Given the description of an element on the screen output the (x, y) to click on. 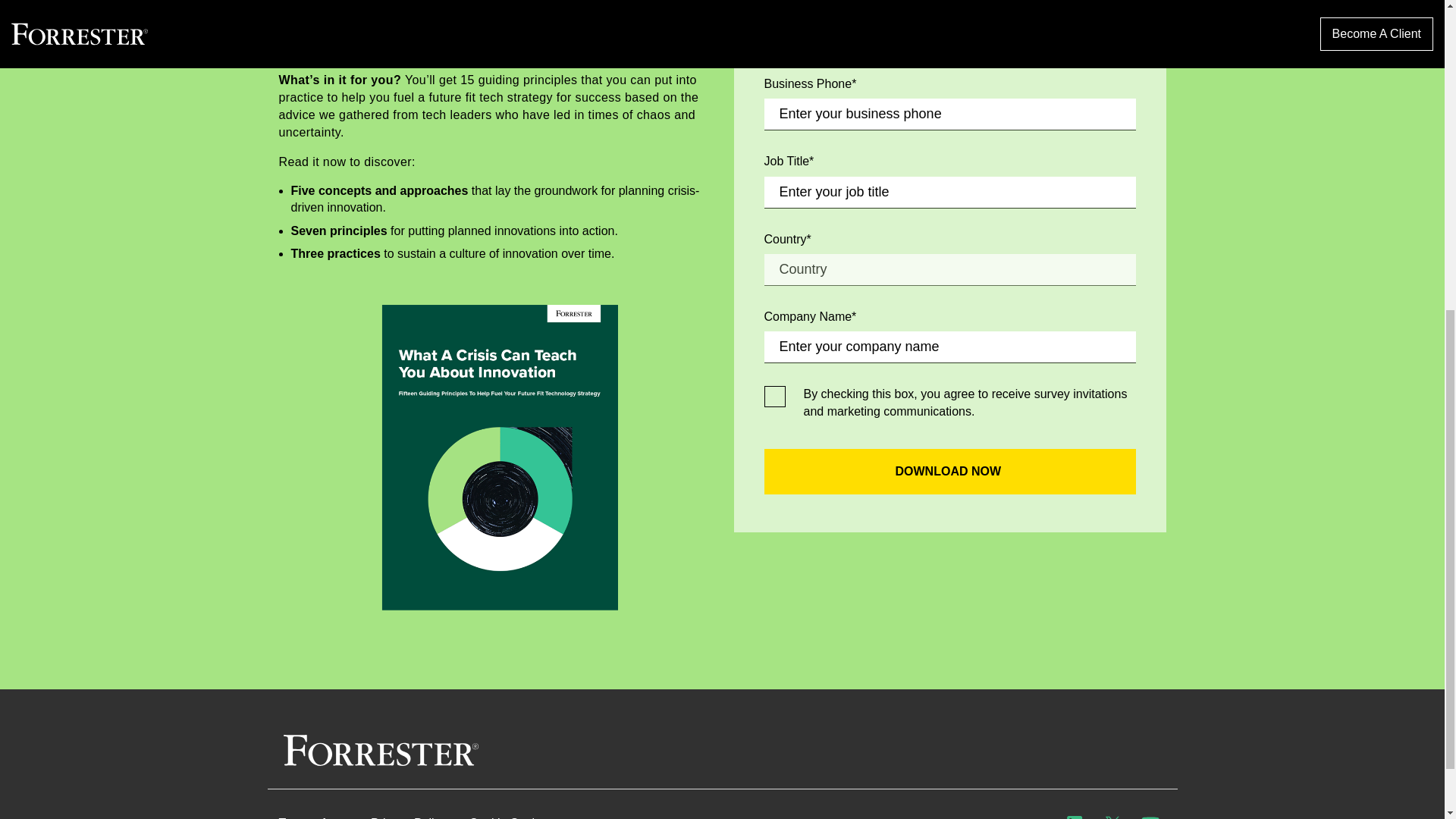
Download Now  (949, 471)
Download Now  (949, 471)
